Given the description of an element on the screen output the (x, y) to click on. 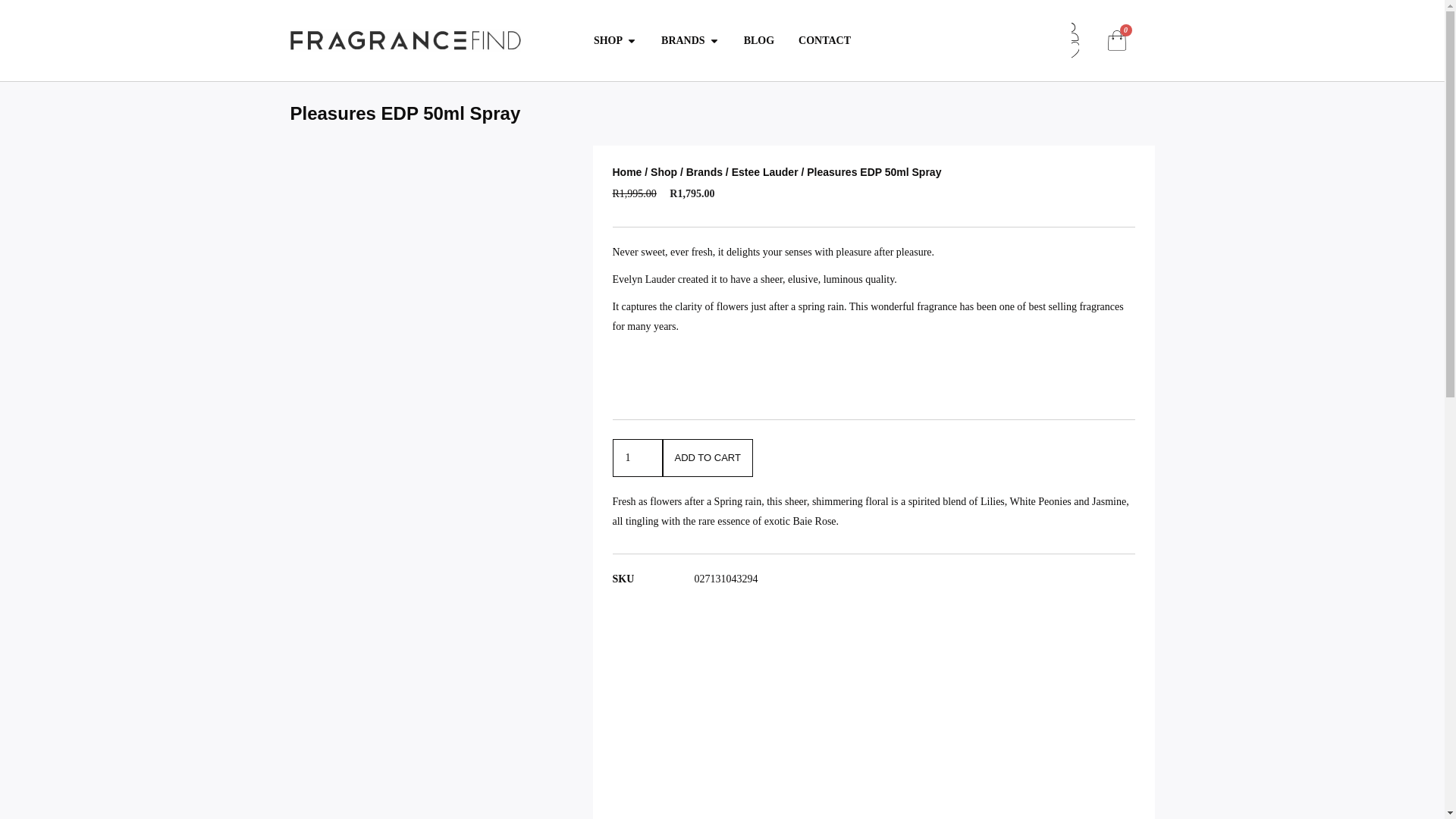
BLOG (759, 40)
1 (637, 457)
SHOP (608, 40)
shopping-bag (1115, 40)
CONTACT (823, 40)
